Given the description of an element on the screen output the (x, y) to click on. 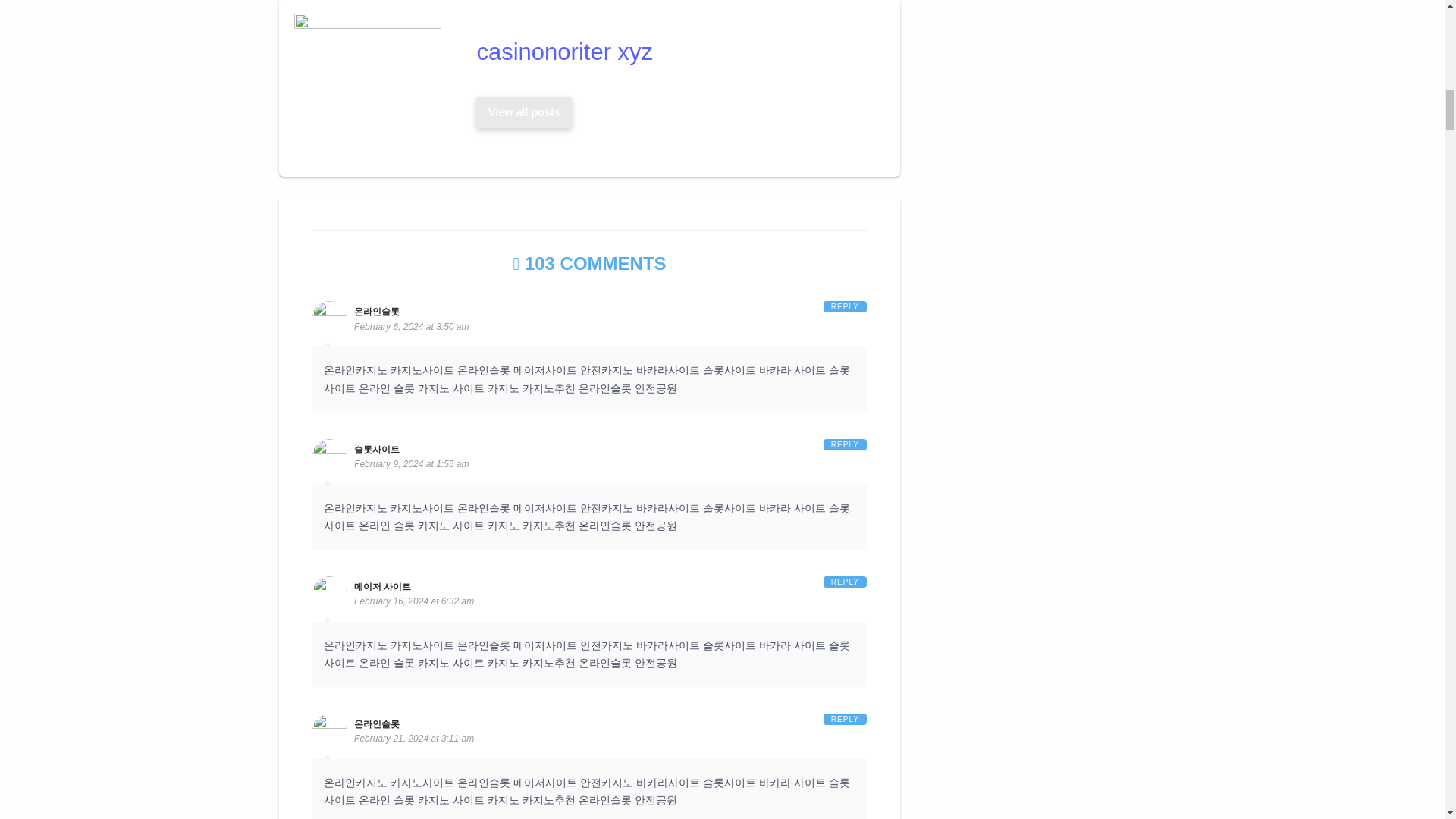
February 6, 2024 at 3:50 am (410, 326)
REPLY (845, 306)
casinonoriter xyz (523, 111)
casinonoriter xyz (674, 51)
View all posts (523, 111)
casinonoriter xyz (674, 51)
View all posts (524, 112)
